Given the description of an element on the screen output the (x, y) to click on. 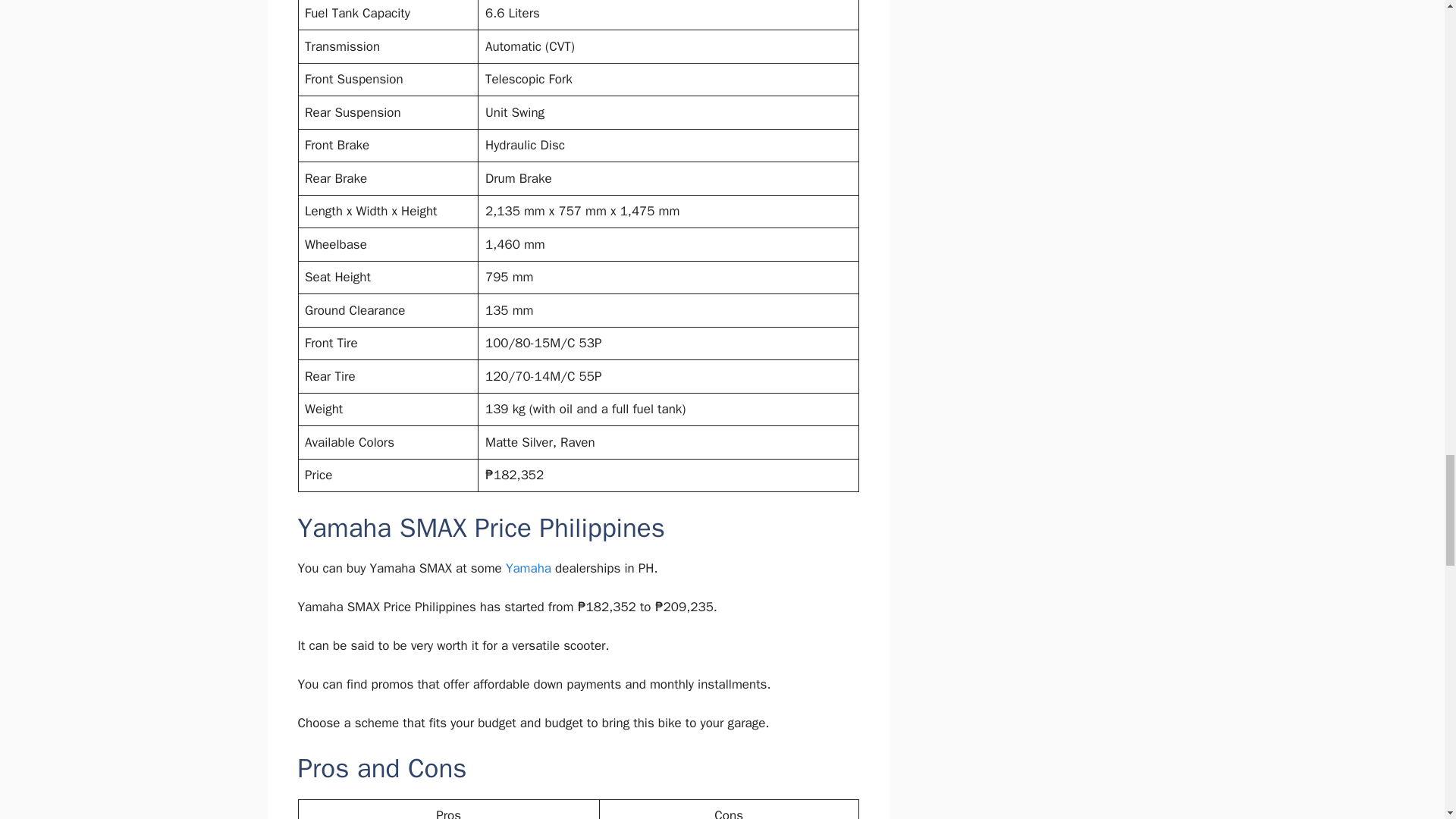
Yamaha (528, 568)
